Given the description of an element on the screen output the (x, y) to click on. 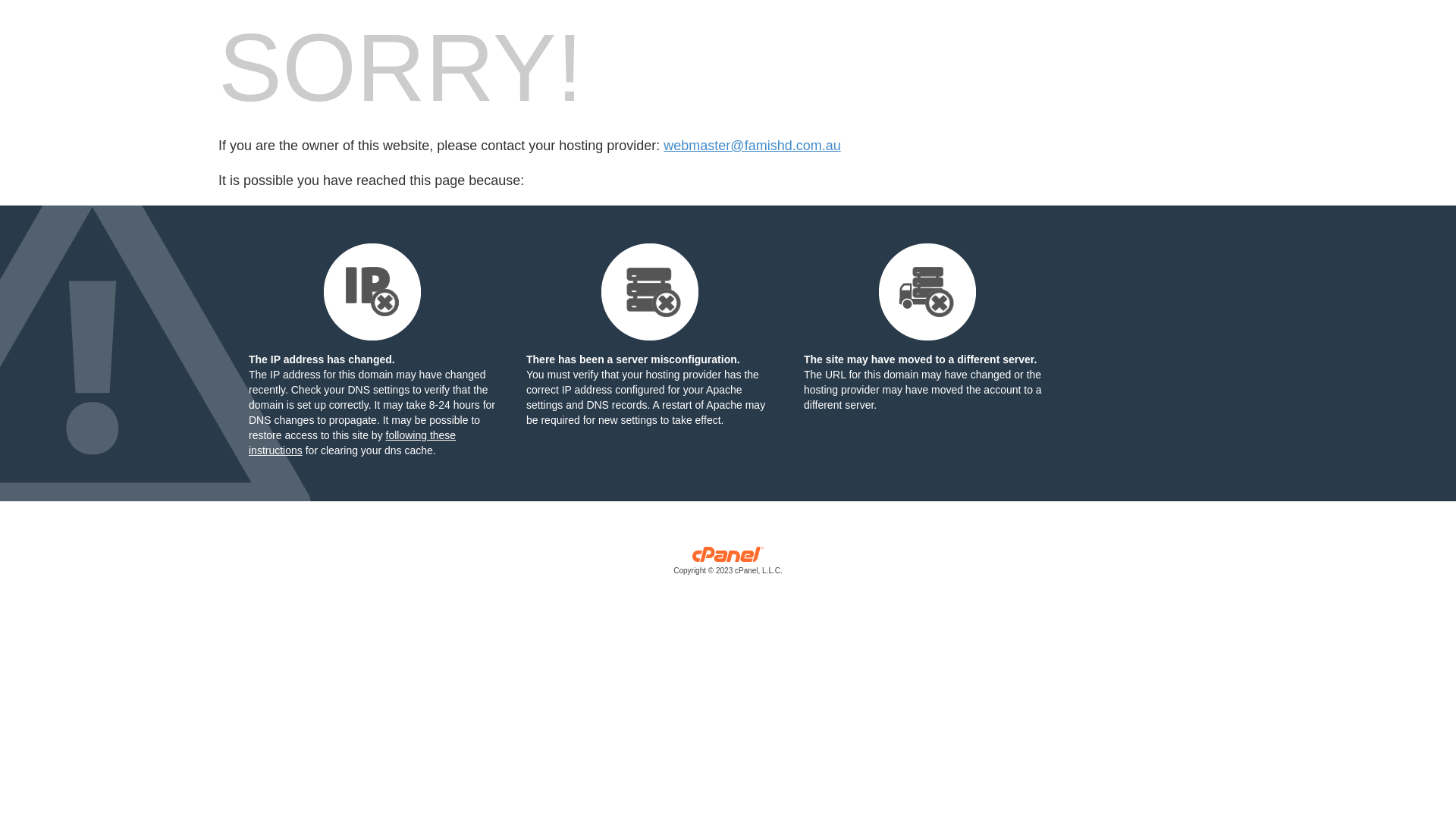
webmaster@famishd.com.au Element type: text (751, 145)
following these instructions Element type: text (351, 442)
